Given the description of an element on the screen output the (x, y) to click on. 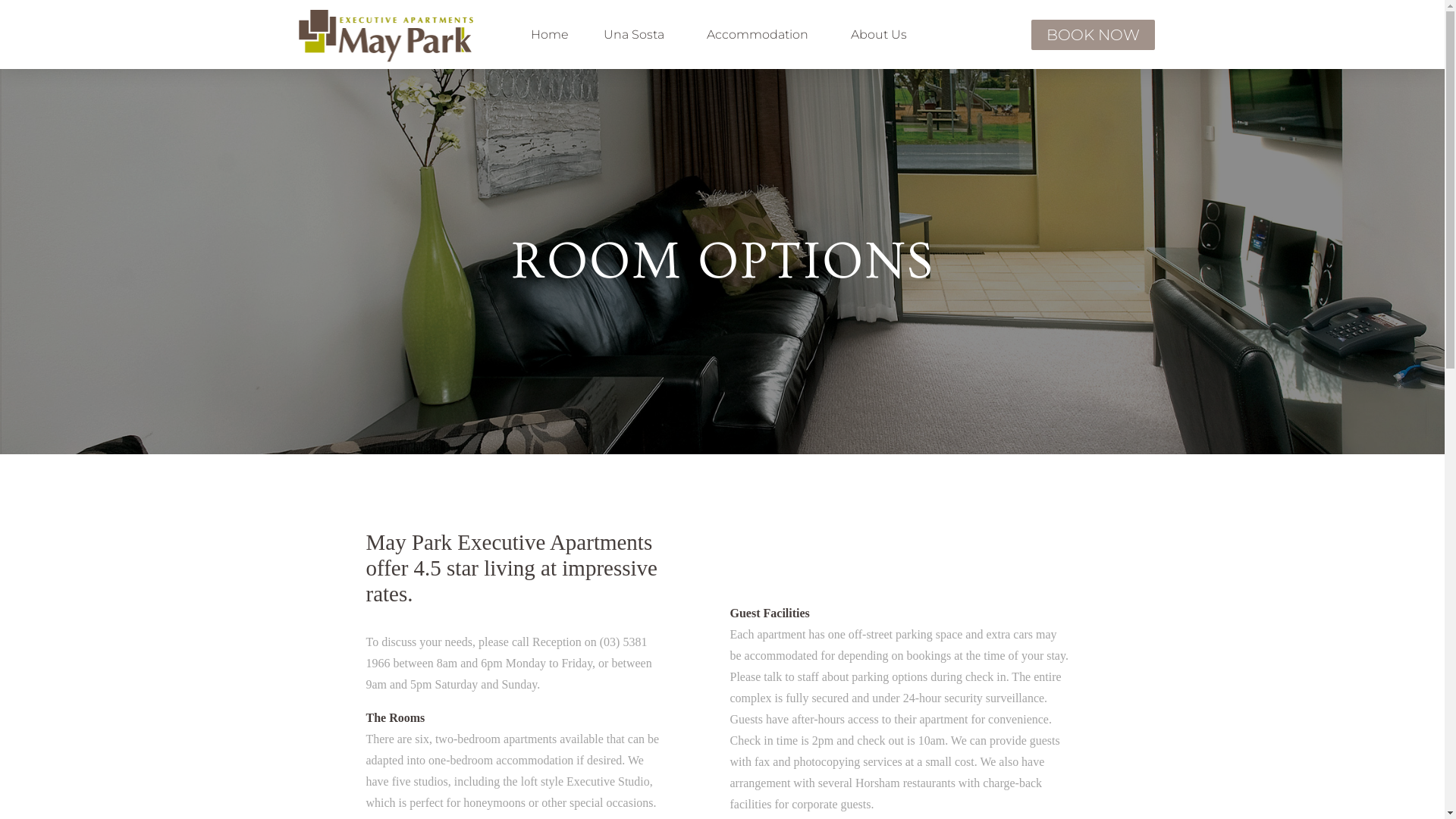
Home Element type: text (549, 34)
BOOK NOW Element type: text (1092, 34)
About Us Element type: text (882, 34)
Accommodation Element type: text (761, 34)
Una Sosta Element type: text (637, 34)
